Given the description of an element on the screen output the (x, y) to click on. 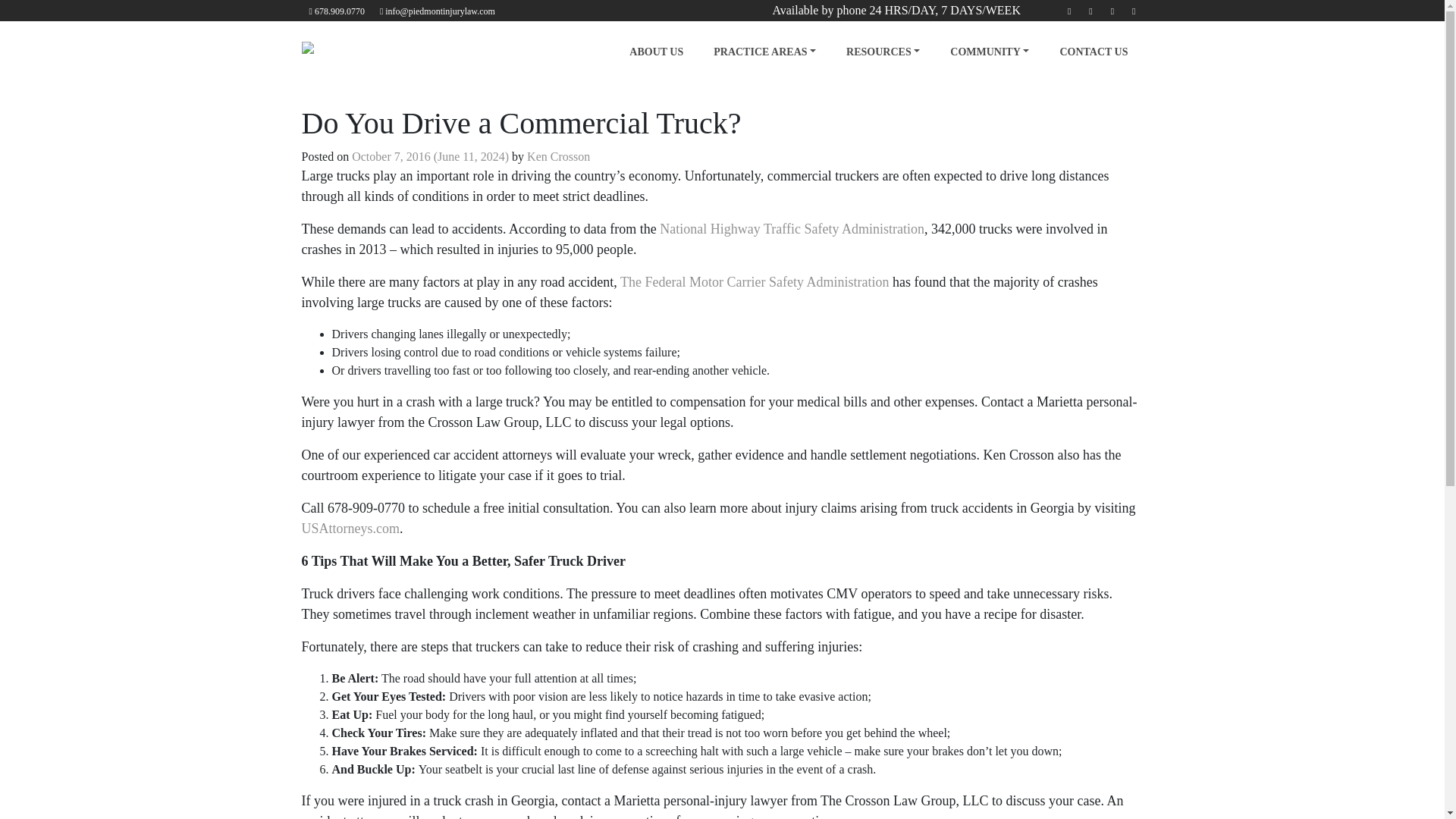
CONTACT US (1092, 51)
Community (988, 51)
About Us (656, 51)
Resources (882, 51)
678.909.0770 (336, 10)
Practice Areas (764, 51)
USAttorneys.com (350, 528)
National Highway Traffic Safety Administration (791, 228)
RESOURCES (882, 51)
COMMUNITY (988, 51)
